Given the description of an element on the screen output the (x, y) to click on. 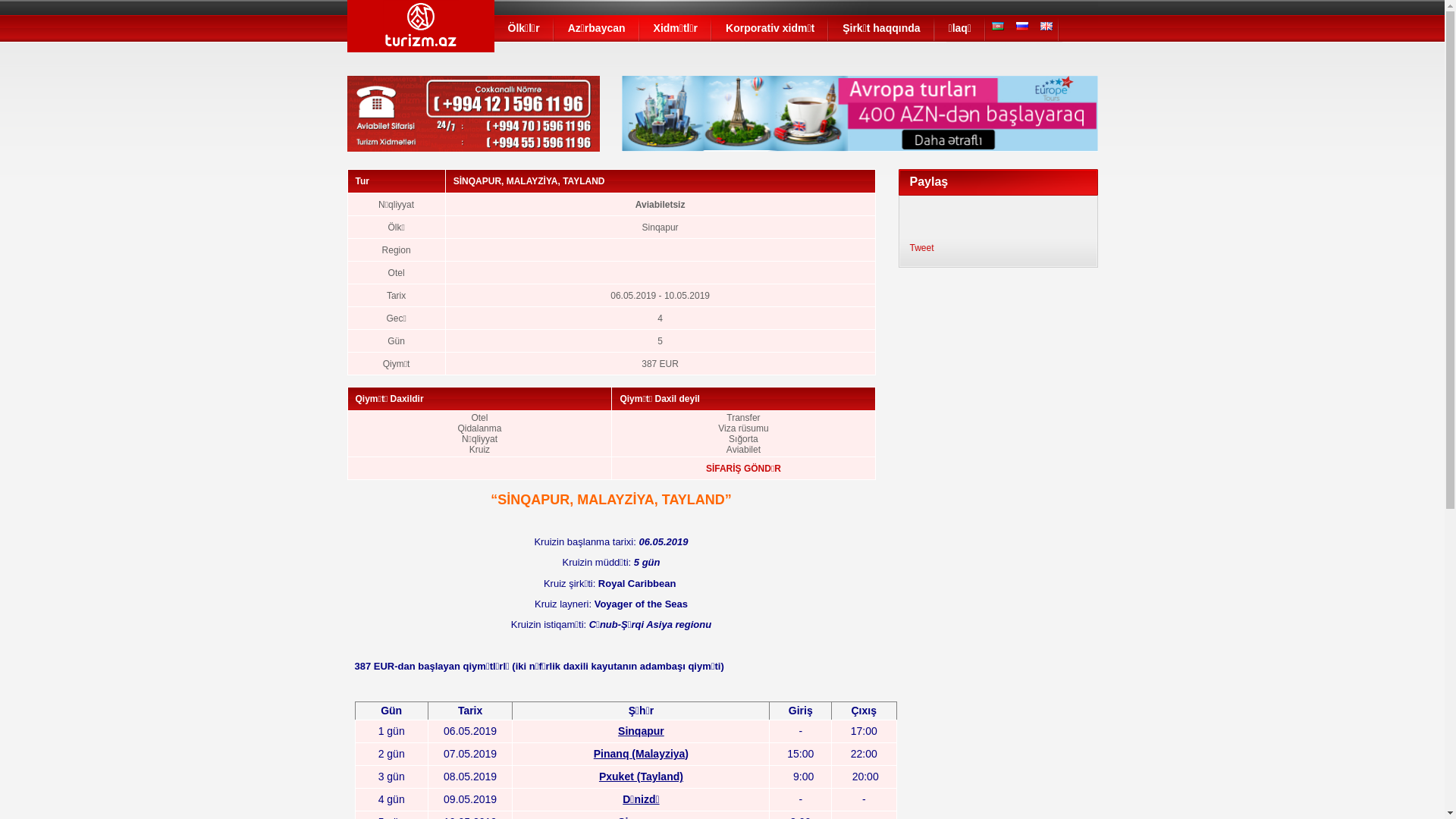
Turizm.Az Element type: text (420, 32)
Tweet Element type: text (922, 247)
